Given the description of an element on the screen output the (x, y) to click on. 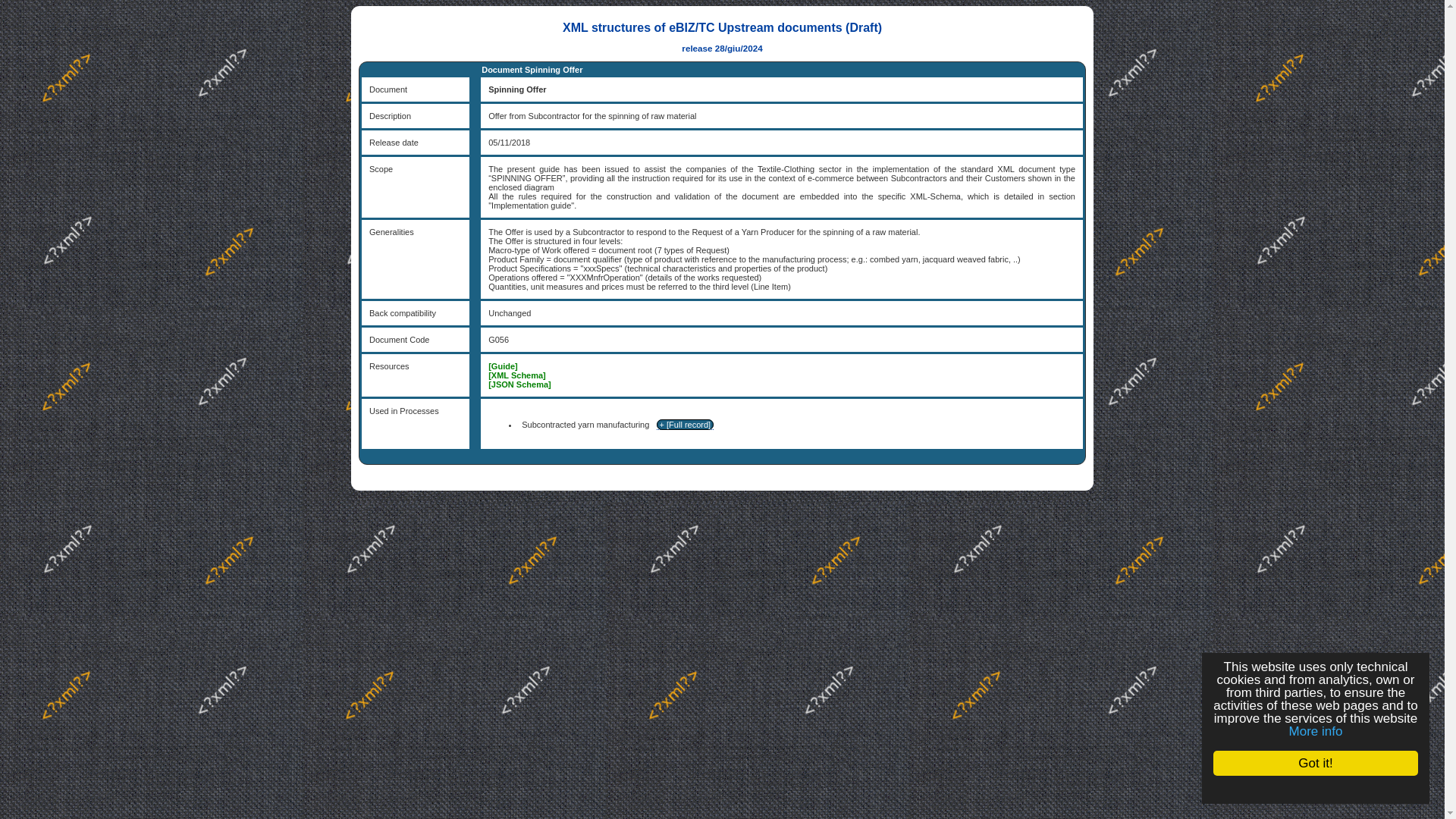
go to JSON Schema (519, 384)
Go to the User Guide (502, 366)
go to XML Schema (516, 375)
